Given the description of an element on the screen output the (x, y) to click on. 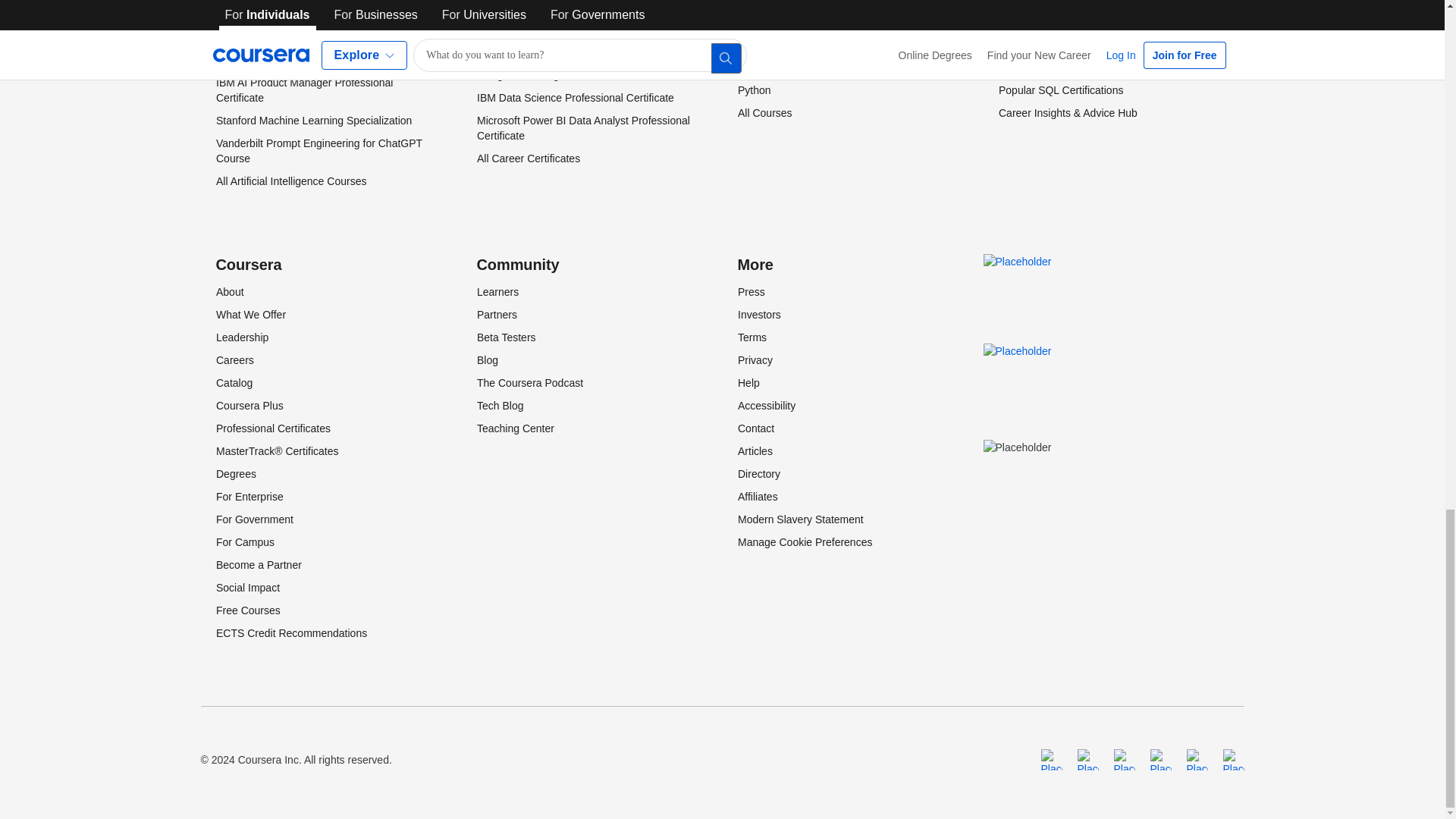
All Artificial Intelligence Courses (290, 181)
Vanderbilt Prompt Engineering for ChatGPT Course (318, 150)
DLAI GenAI with LLMs Course (287, 2)
Google Cloud Introduction to Generative AI Course (316, 52)
Google AI Essentials (264, 21)
Stanford Machine Learning Specialization (312, 120)
IBM AI Product Manager Professional Certificate (303, 90)
